Given the description of an element on the screen output the (x, y) to click on. 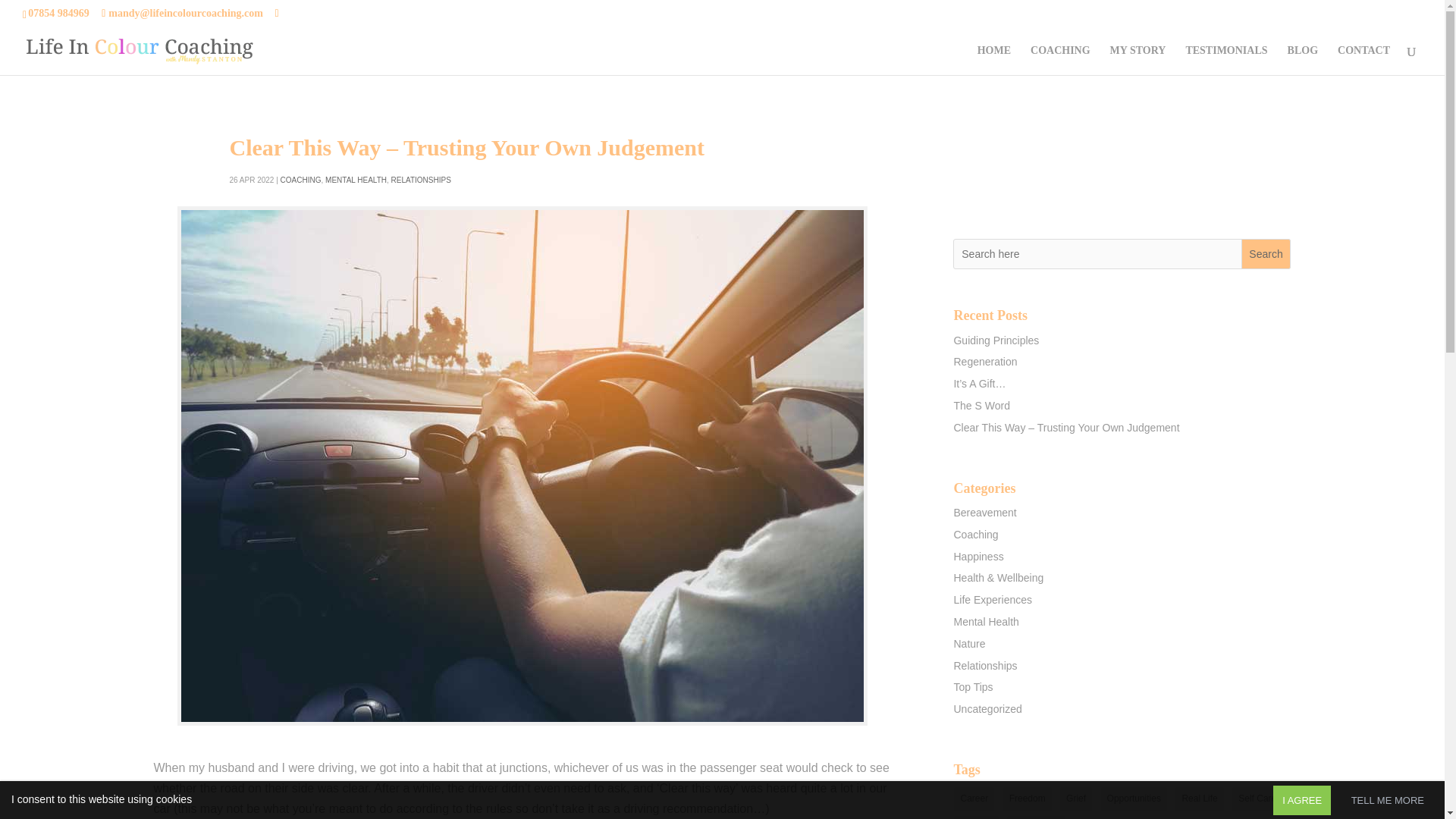
Home page (993, 60)
MY STORY (1137, 60)
Nature (969, 644)
Regeneration (984, 361)
07854 984969 (57, 12)
Life Experiences (992, 599)
Career (973, 798)
Search (1266, 254)
TESTIMONIALS (1225, 60)
COACHING (1060, 60)
Happiness (978, 556)
Freedom (1027, 798)
Uncategorized (987, 708)
COACHING (301, 180)
The S Word (981, 405)
